Given the description of an element on the screen output the (x, y) to click on. 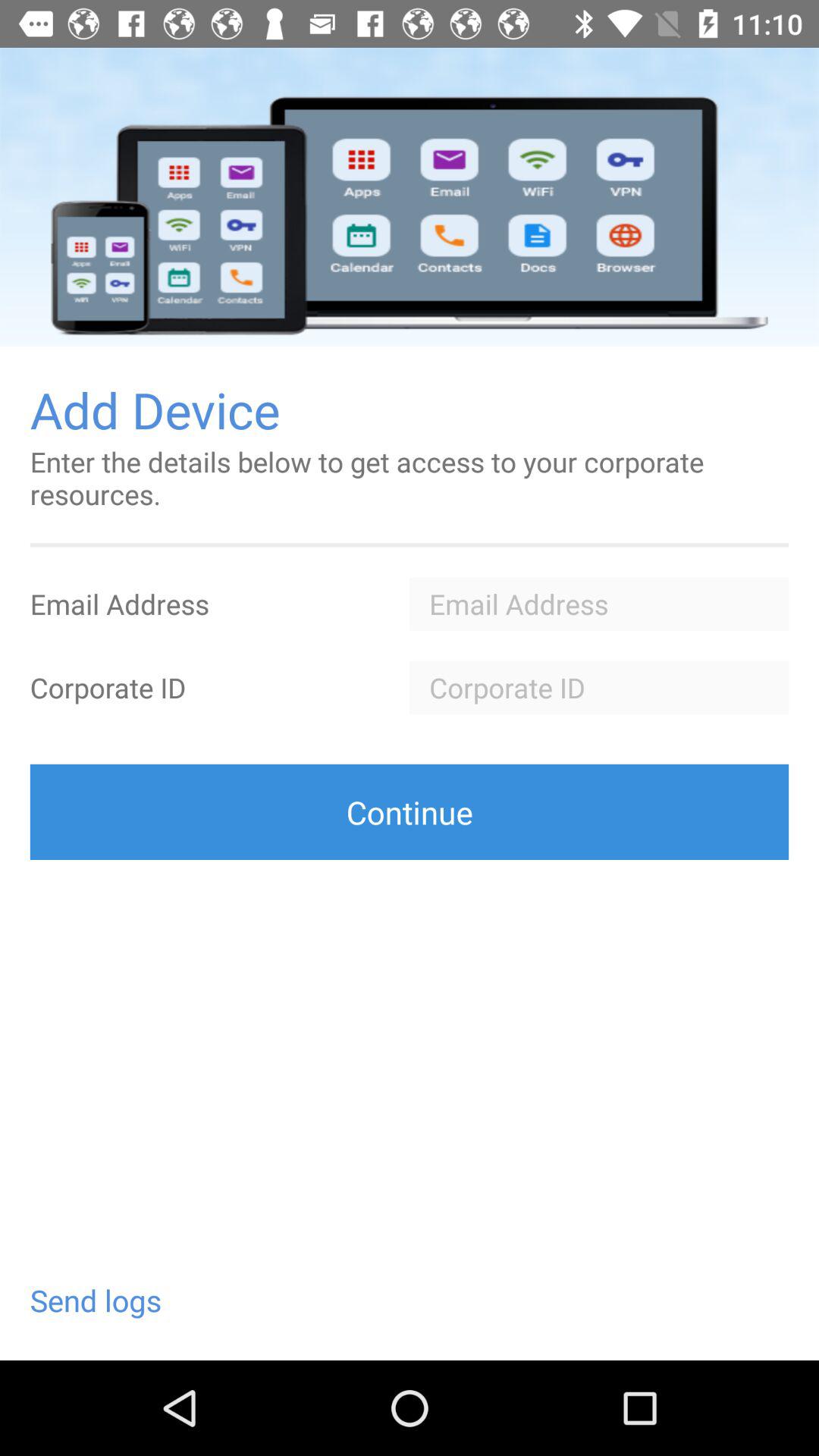
flip until continue (409, 811)
